Given the description of an element on the screen output the (x, y) to click on. 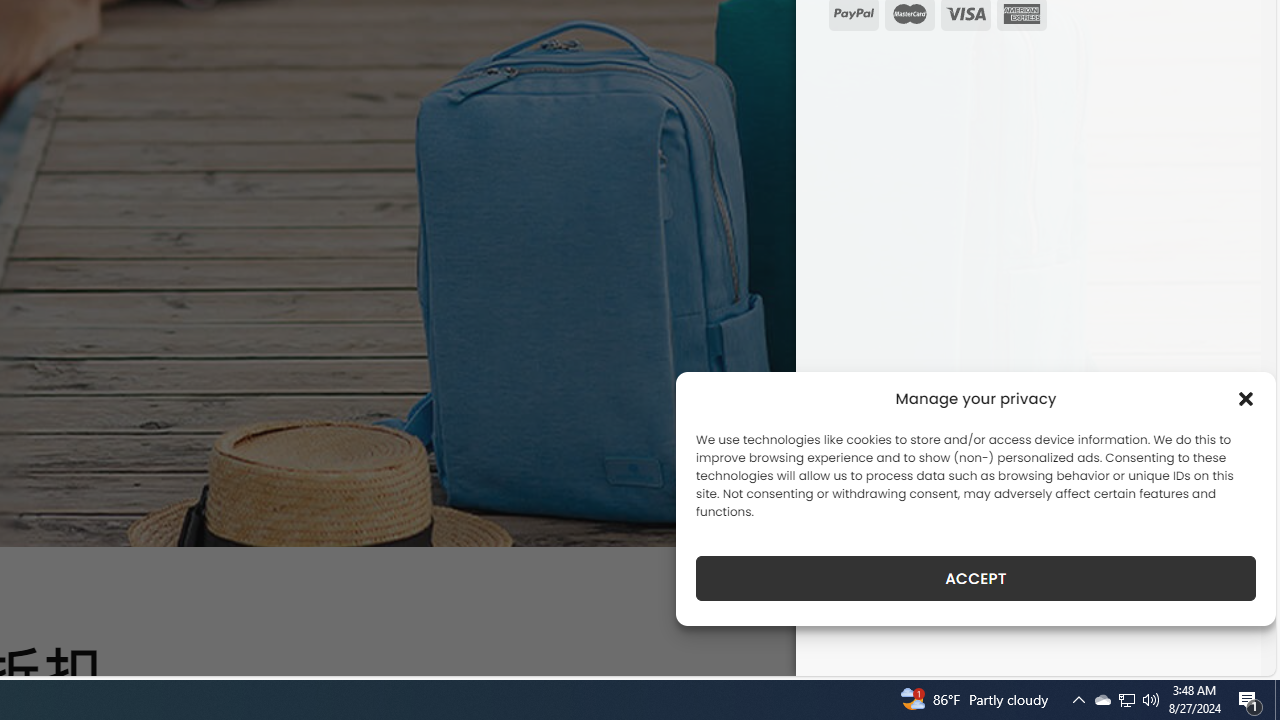
Class: cmplz-close (1245, 398)
ACCEPT (975, 578)
